Given the description of an element on the screen output the (x, y) to click on. 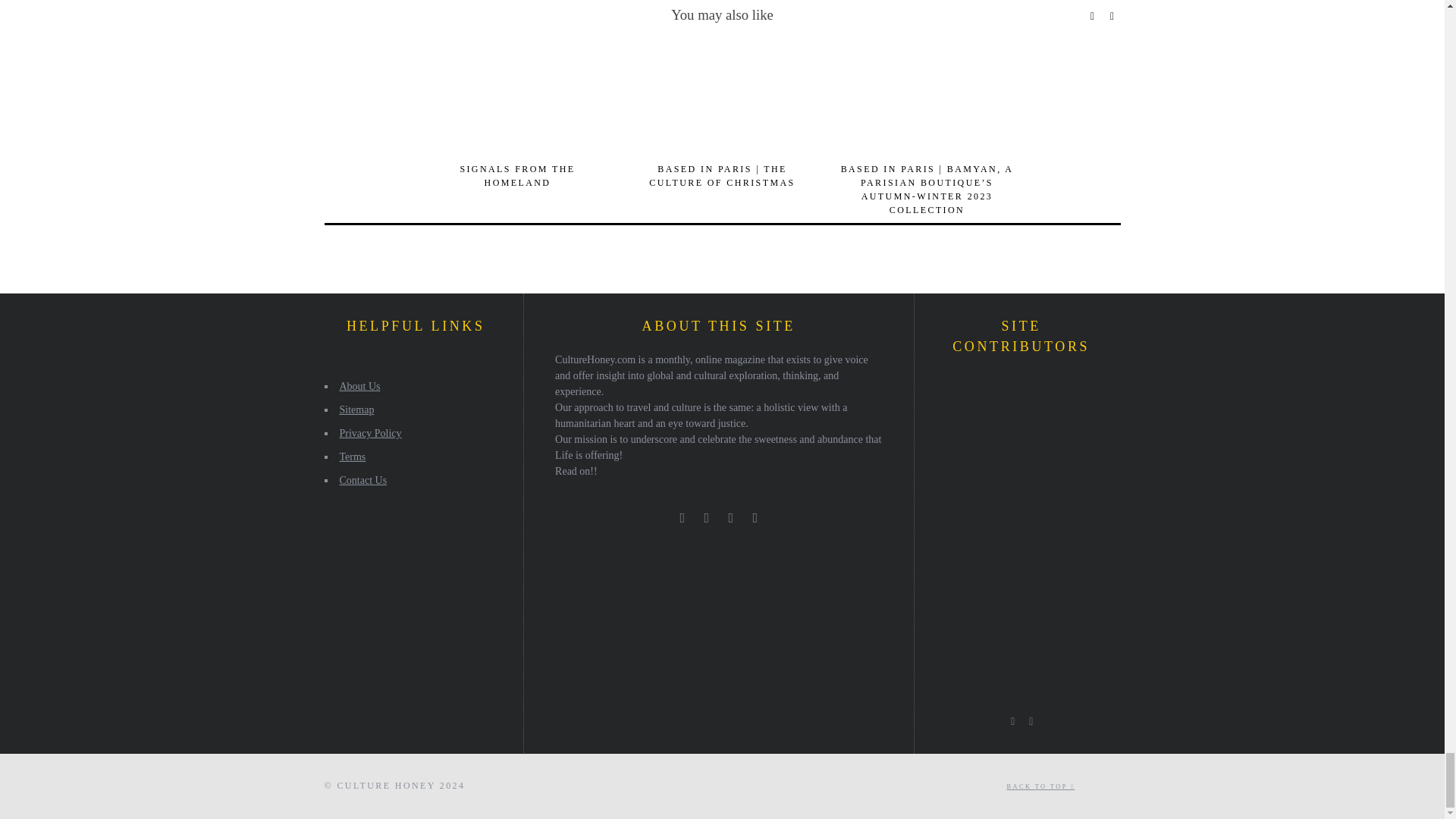
Aurore Rominger (950, 392)
Kortni Sims (1033, 392)
Jonathan Scott (1033, 434)
Esther O'Loughlin (950, 475)
Julie Clark (992, 392)
Emily Greene (992, 434)
James Farr (950, 517)
Eden Huma (1075, 475)
Ken Bower (1033, 475)
Victoria Hernandez (1033, 517)
